Given the description of an element on the screen output the (x, y) to click on. 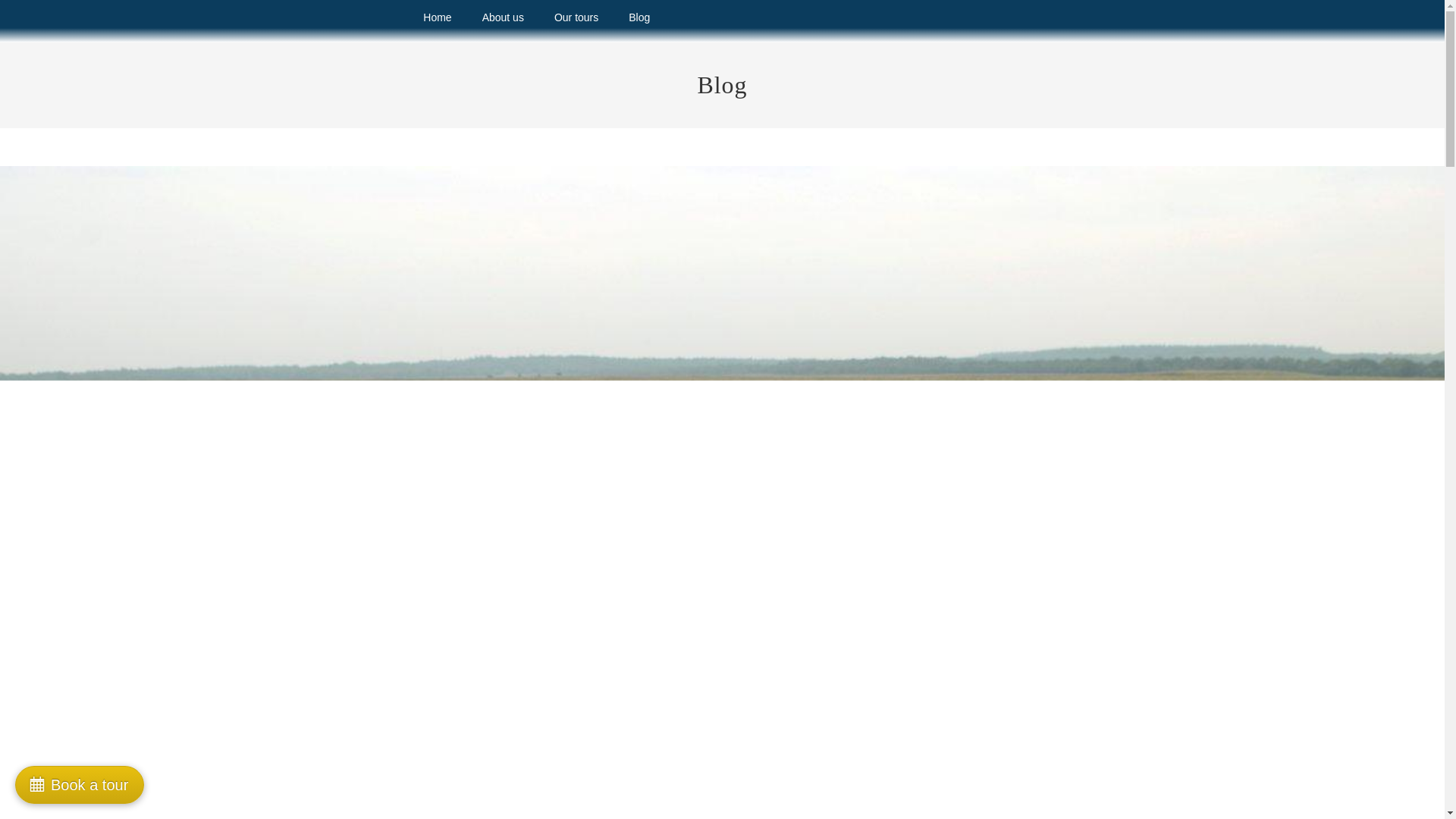
Our tours (575, 17)
Home (436, 17)
Book a tour (79, 784)
Blog (638, 17)
About us (502, 17)
